Given the description of an element on the screen output the (x, y) to click on. 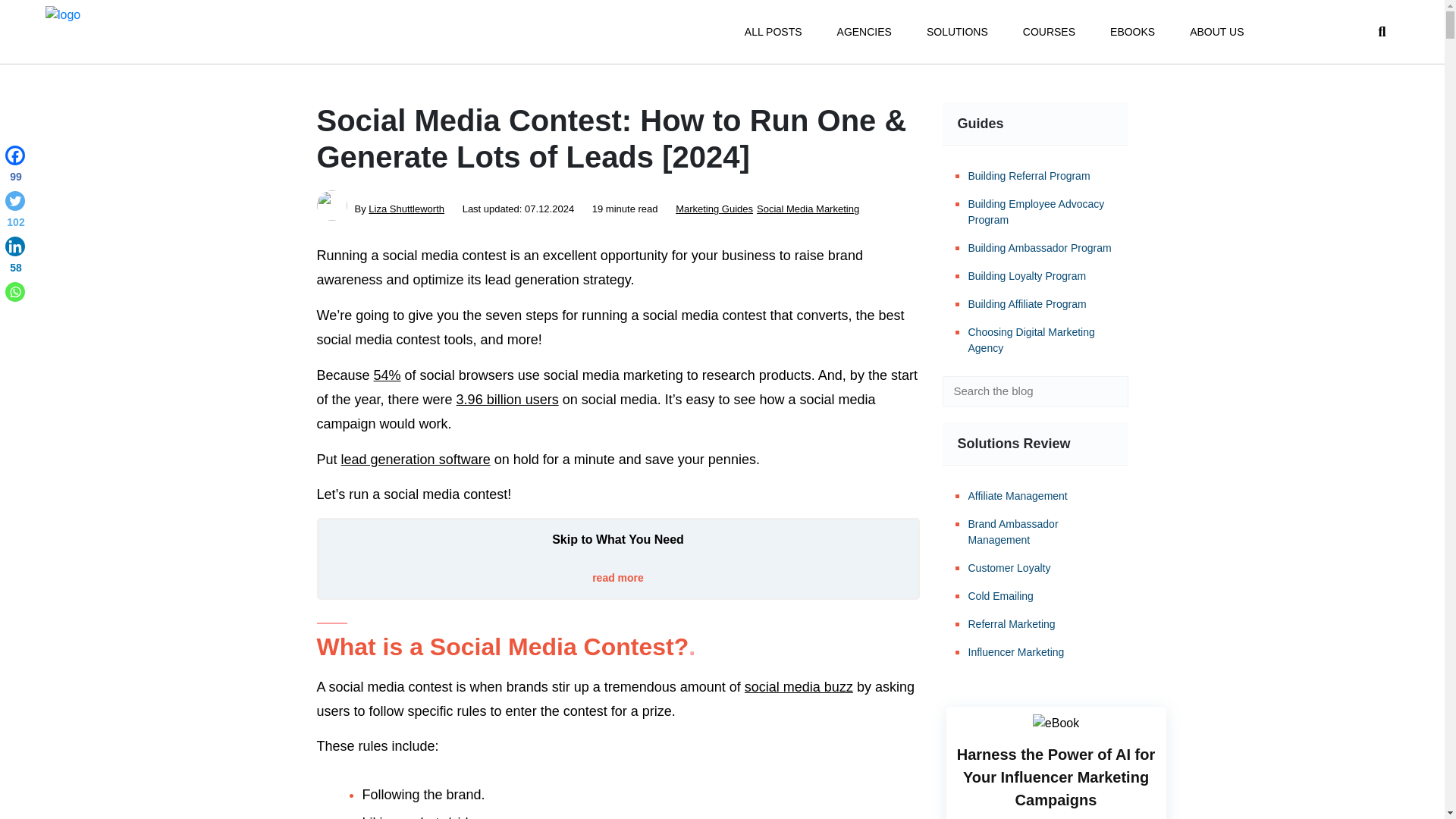
Linkedin (14, 257)
SOLUTIONS (957, 31)
AGENCIES (864, 31)
Search (1105, 391)
Facebook (14, 166)
Search (1105, 391)
Whatsapp (14, 291)
ALL POSTS (772, 31)
Twitter (14, 211)
